Given the description of an element on the screen output the (x, y) to click on. 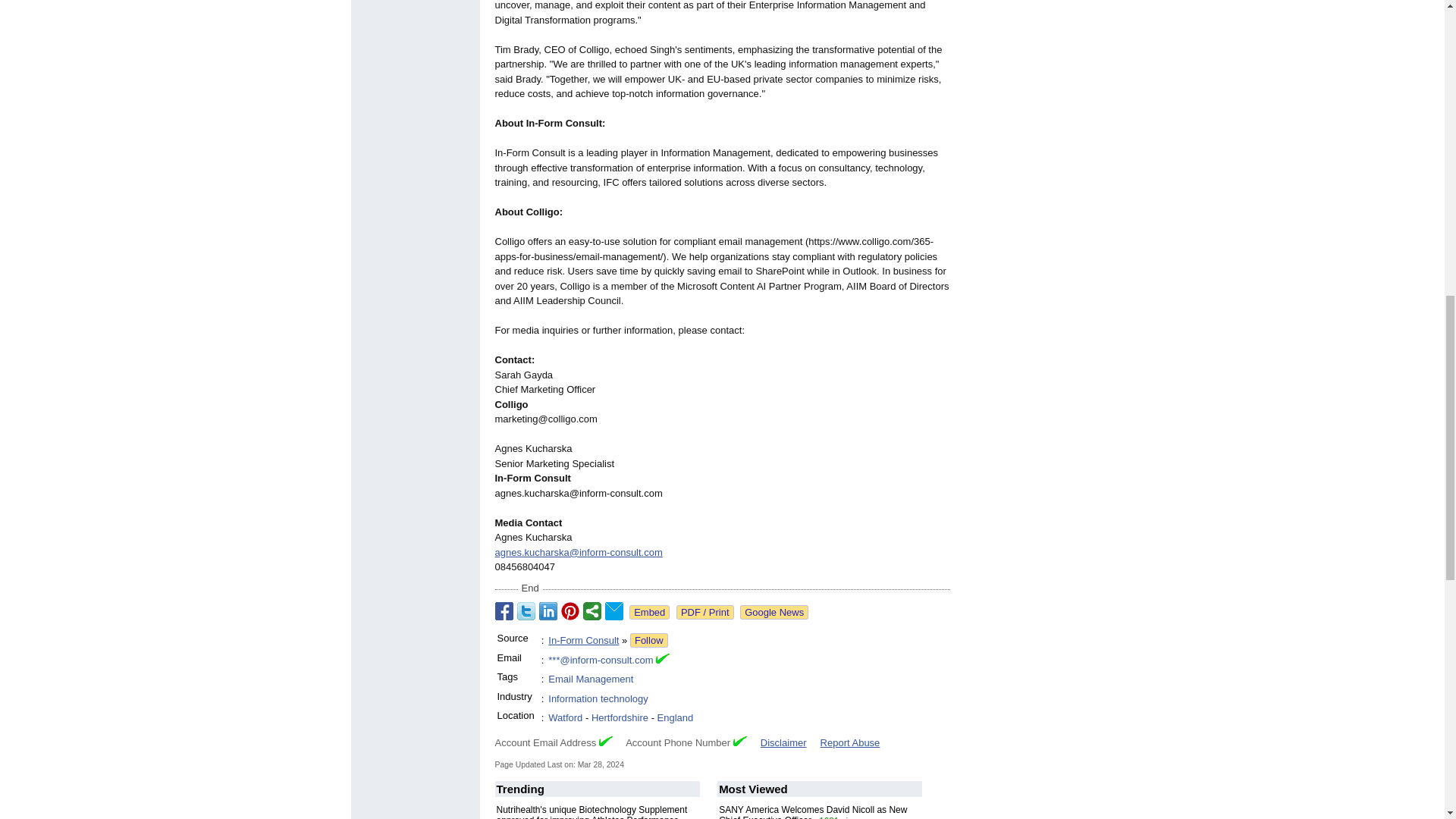
See or print the PDF version! (705, 612)
Share on Pinterest (569, 610)
Share on Facebook (503, 610)
Verified (605, 741)
Share on StumbleUpon, Digg, etc (590, 610)
Share on Twitter (525, 610)
Share on LinkedIn (547, 610)
Email Verified (662, 660)
Embed this press release in your website! (648, 612)
Email to a Friend (614, 610)
Verified (739, 741)
Embed (648, 612)
